Given the description of an element on the screen output the (x, y) to click on. 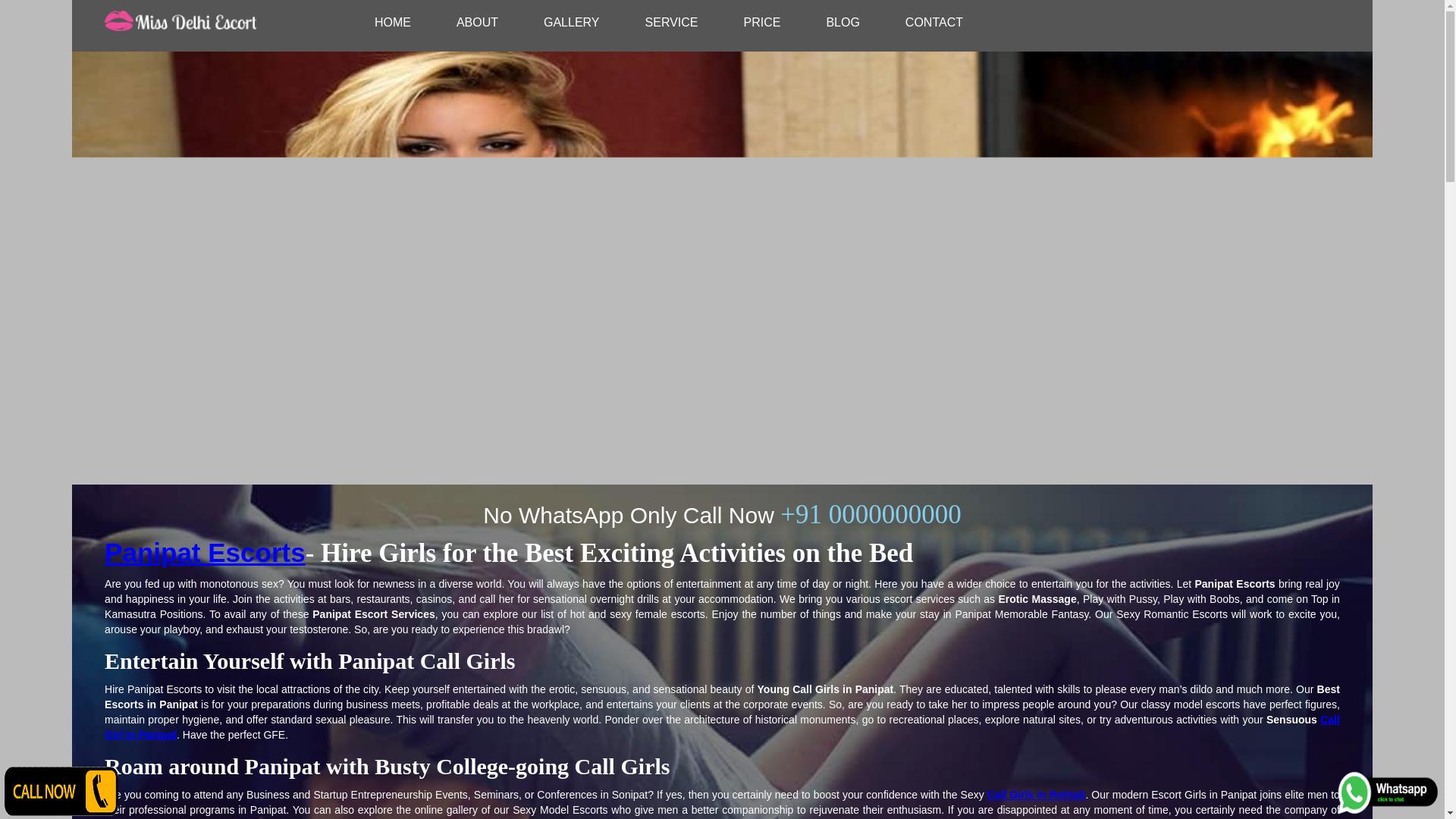
call now (60, 790)
Panipat Escorts (204, 552)
Panipat Escorts (721, 727)
Miss Delhi Escort Logo (180, 22)
Panipat Escorts (204, 552)
Call Girls in Rohtak (1036, 794)
SERVICE (671, 22)
PRICE (761, 22)
Rohtak Escorts (1036, 794)
Call Girl in Panipat (721, 727)
GALLERY (572, 22)
ABOUT (477, 22)
CONTACT (933, 22)
BLOG (842, 22)
